Given the description of an element on the screen output the (x, y) to click on. 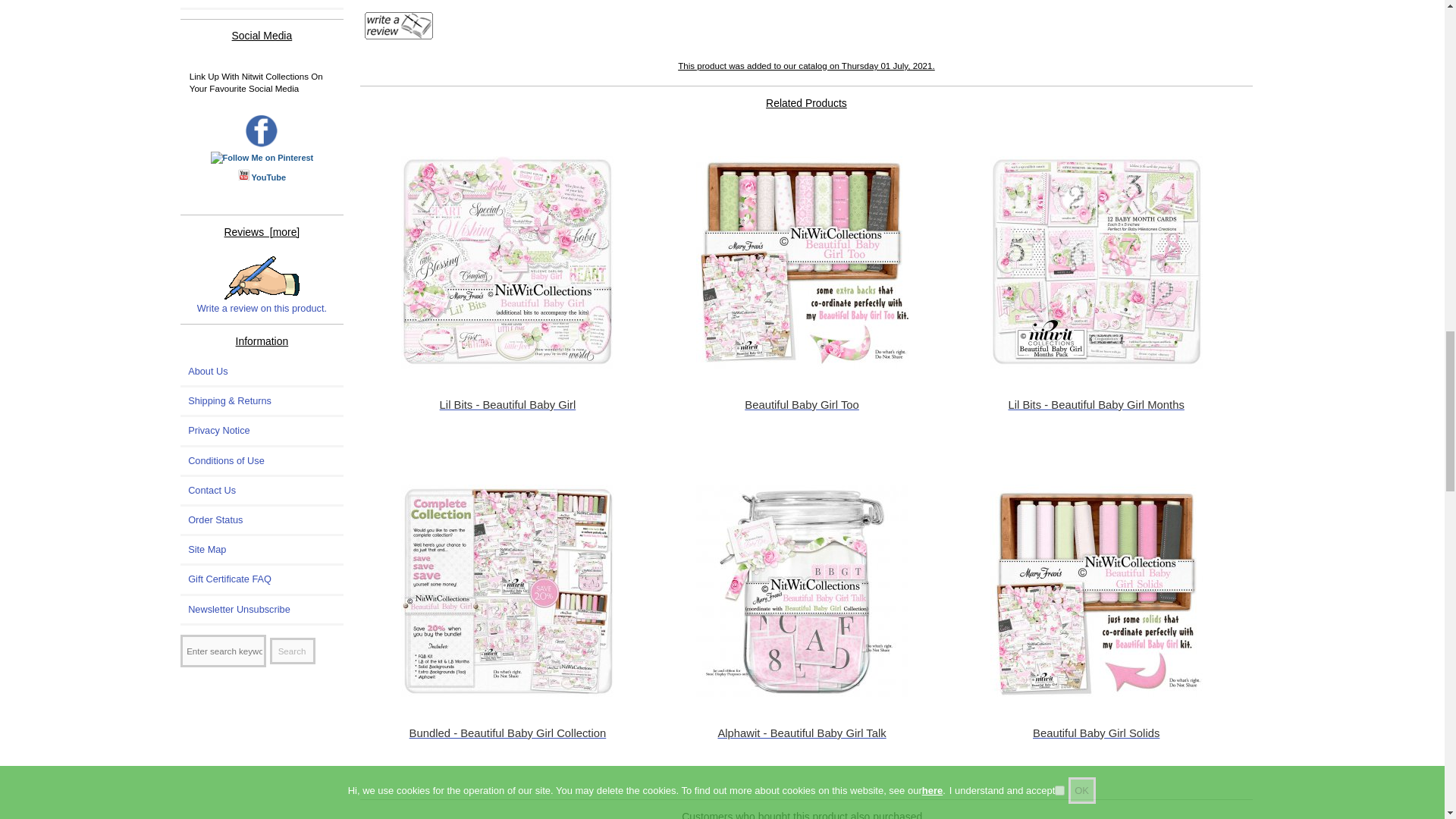
Write a review on this product. (261, 277)
Lil Bits - Beautiful Baby Girl (506, 262)
Write Review (398, 25)
Bundled - Beautiful Baby Girl Collection (506, 590)
Search (292, 651)
Beautiful Baby Girl Too (801, 262)
Lil Bits - Beautiful Baby Girl Months (1096, 262)
Alphawit - Beautiful Baby Girl Talk (801, 590)
